Given the description of an element on the screen output the (x, y) to click on. 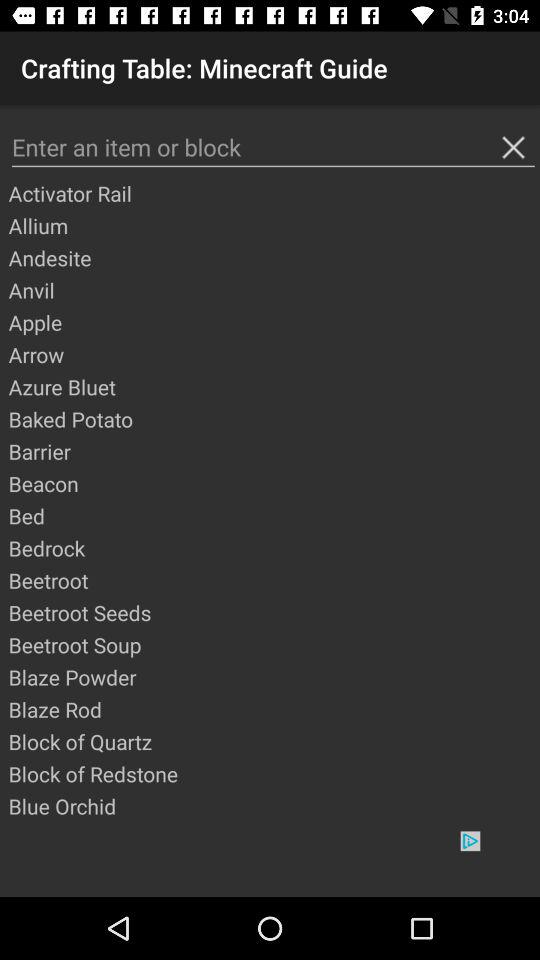
press app below barrier icon (273, 483)
